Given the description of an element on the screen output the (x, y) to click on. 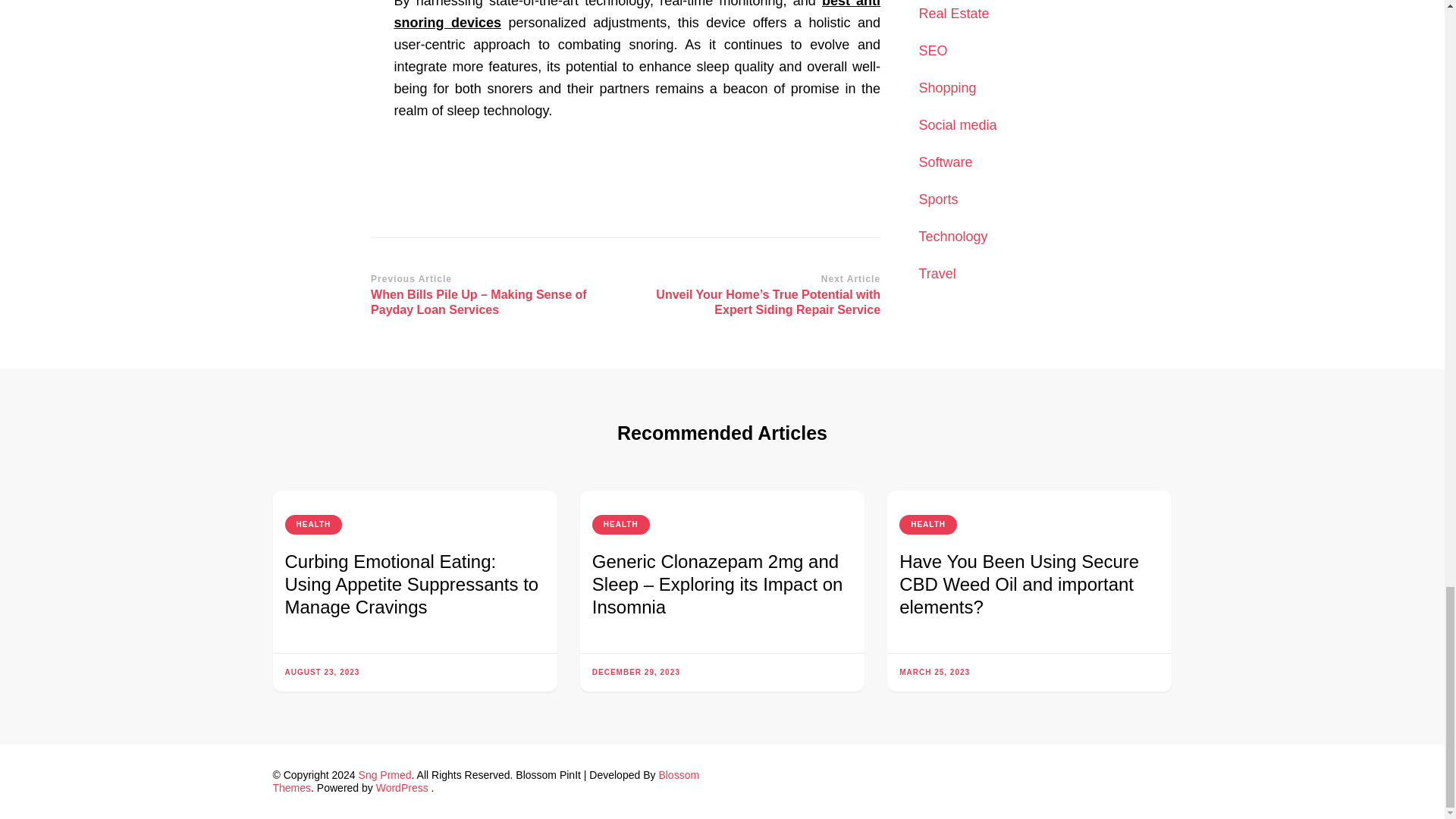
best anti snoring devices (637, 15)
